Given the description of an element on the screen output the (x, y) to click on. 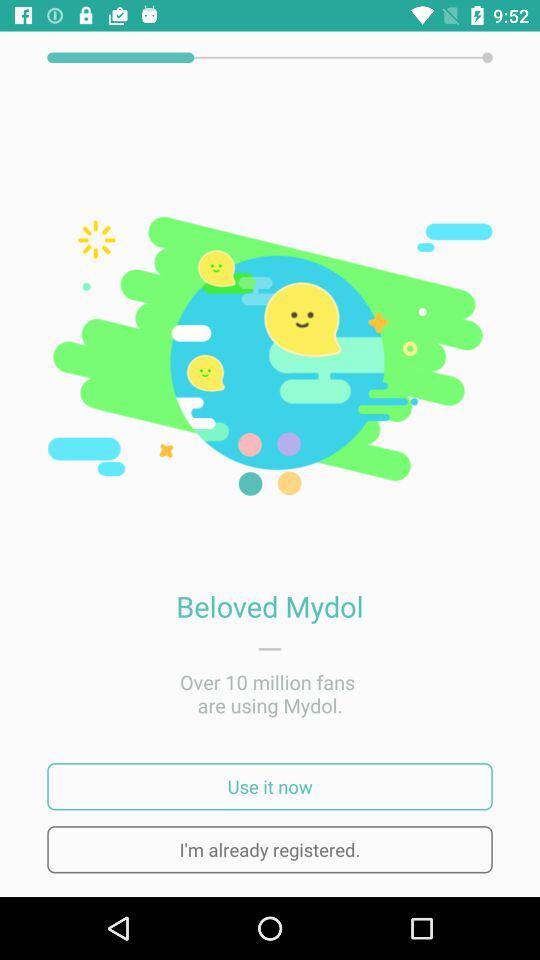
press icon above i m already item (269, 786)
